Given the description of an element on the screen output the (x, y) to click on. 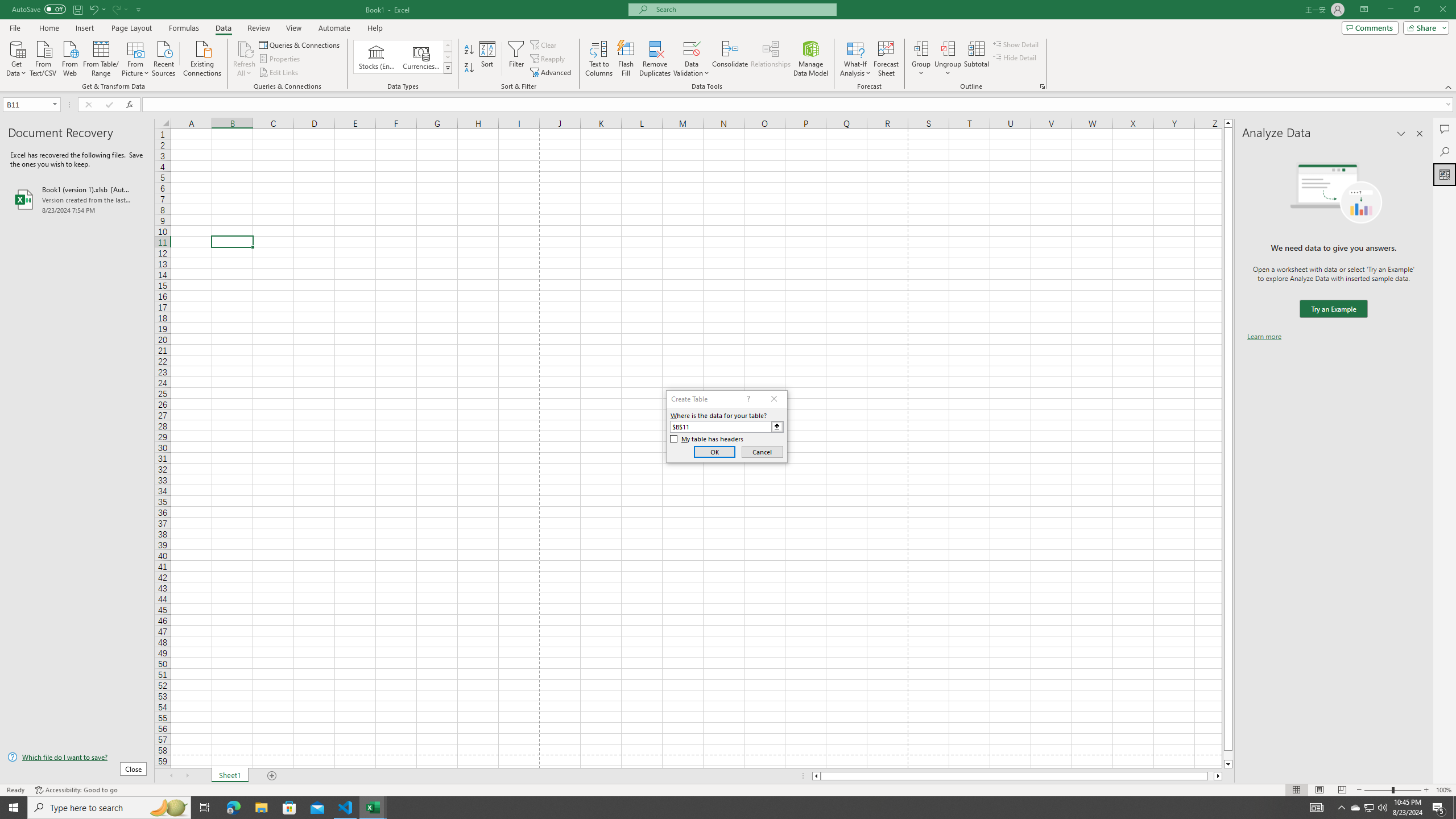
Filter (515, 58)
Flash Fill (625, 58)
Group and Outline Settings (1042, 85)
From Text/CSV (43, 57)
Remove Duplicates (654, 58)
We need data to give you answers. Try an Example (1333, 308)
